Given the description of an element on the screen output the (x, y) to click on. 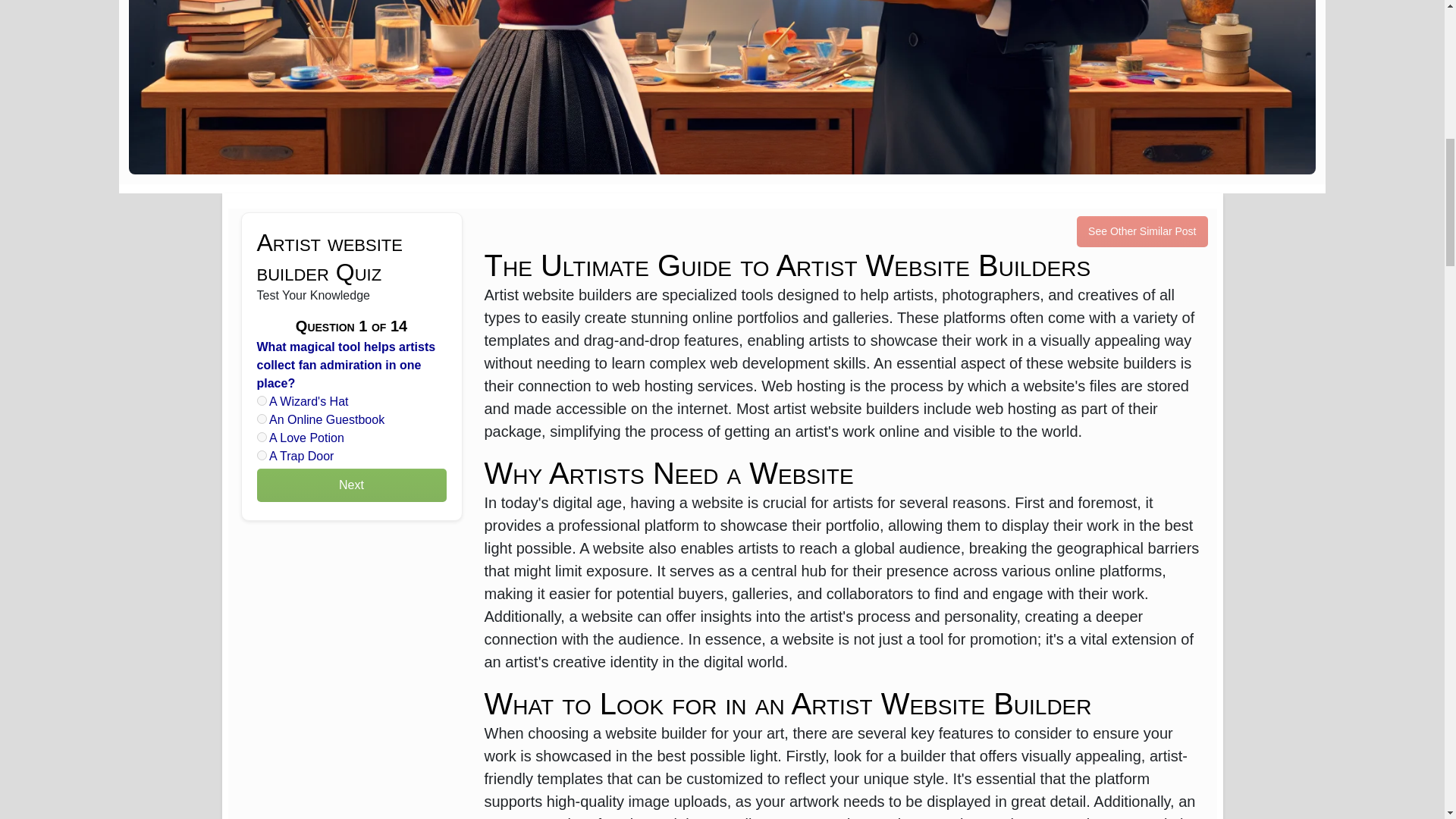
An Online Guestbook (261, 419)
A Love Potion (261, 437)
A Trap Door (261, 455)
A Wizard's Hat (261, 400)
